Given the description of an element on the screen output the (x, y) to click on. 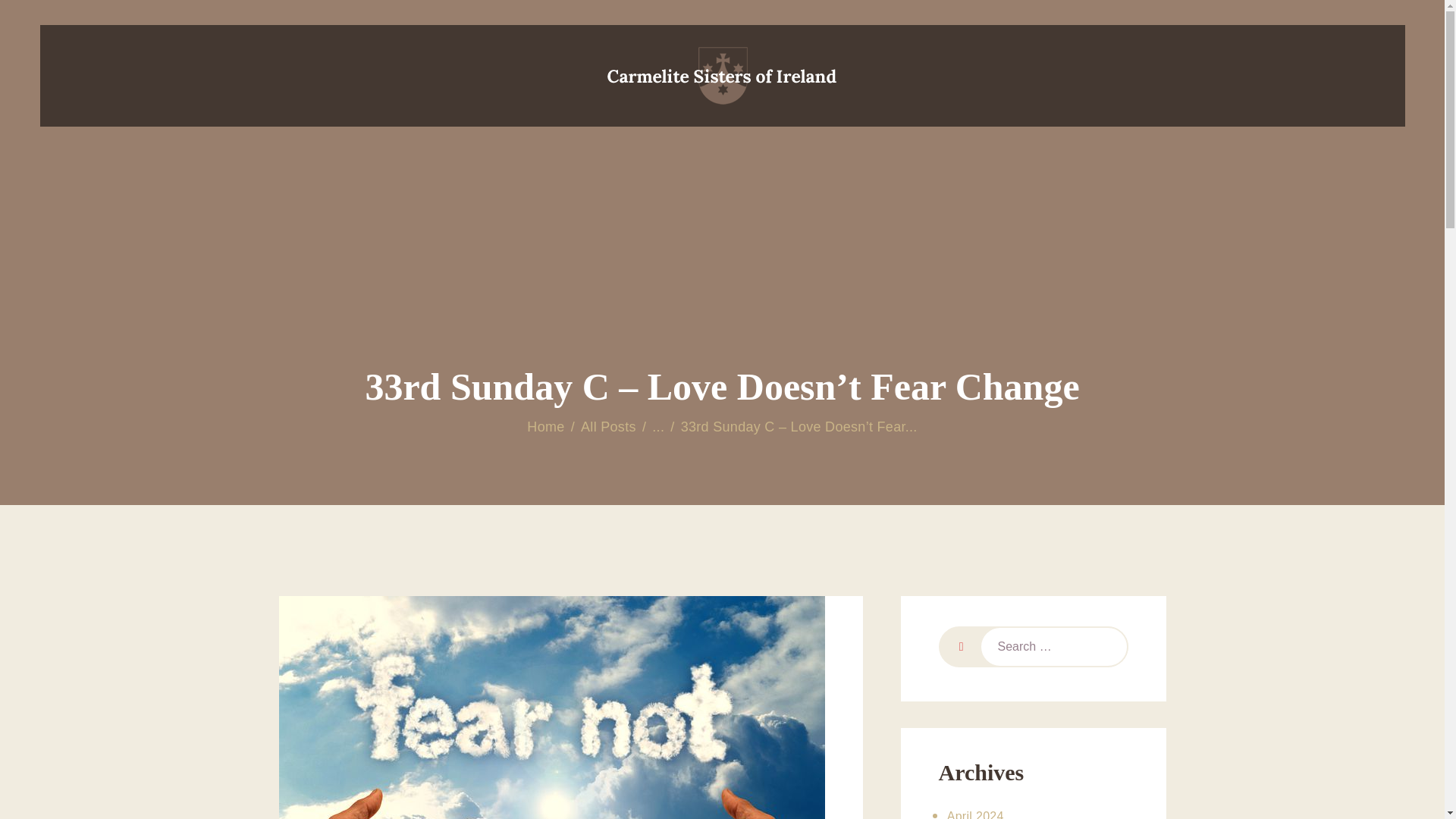
Home (545, 426)
Search (959, 646)
All Posts (608, 426)
Search (959, 646)
